Given the description of an element on the screen output the (x, y) to click on. 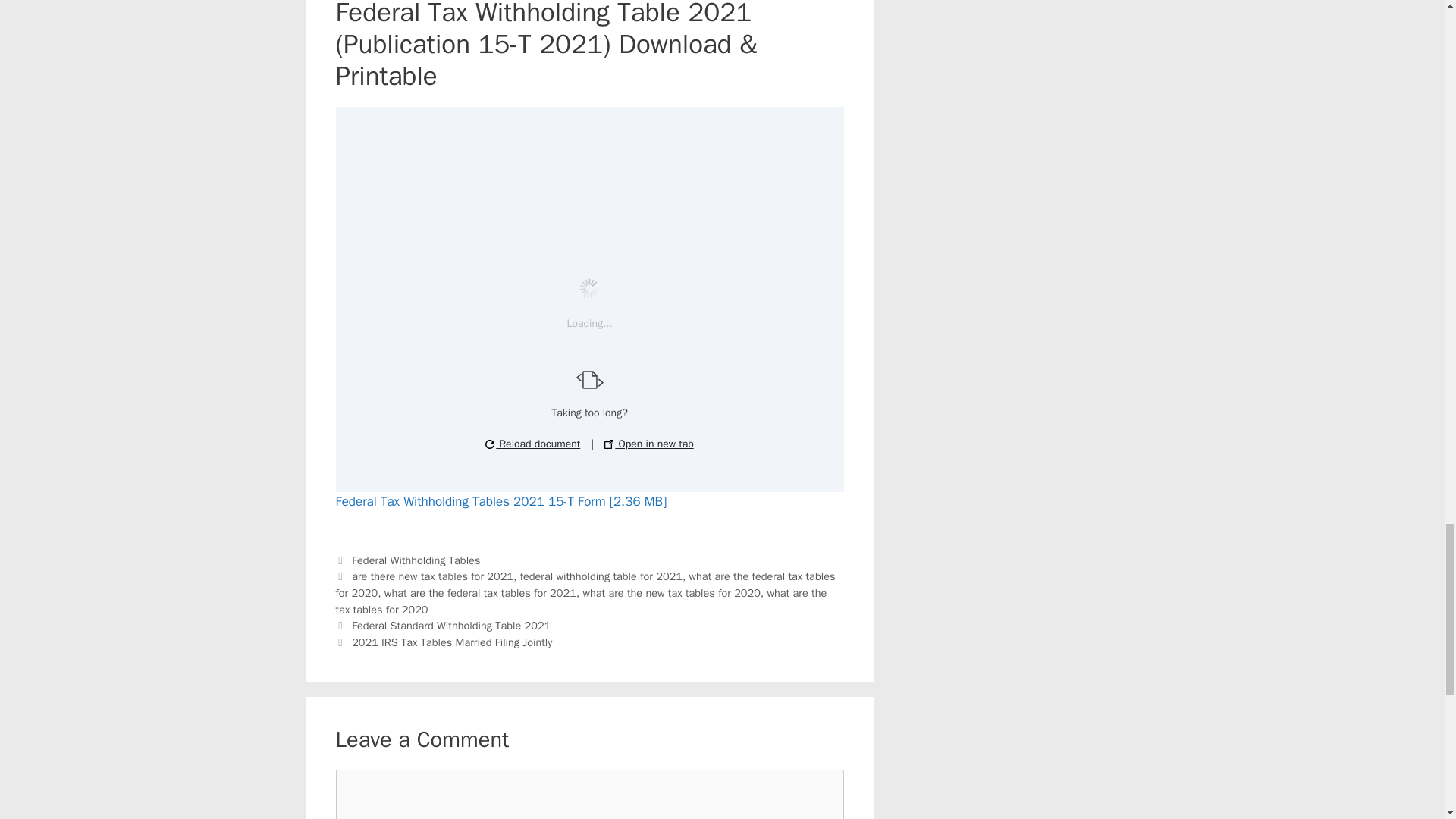
what are the tax tables for 2020 (580, 601)
what are the new tax tables for 2020 (671, 592)
federal withholding table for 2021 (600, 576)
2021 IRS Tax Tables Married Filing Jointly (451, 642)
what are the federal tax tables for 2020 (584, 584)
Federal Withholding Tables (416, 560)
loading (589, 288)
are there new tax tables for 2021 (432, 576)
Federal Standard Withholding Table 2021 (451, 625)
what are the federal tax tables for 2021 (480, 592)
